Given the description of an element on the screen output the (x, y) to click on. 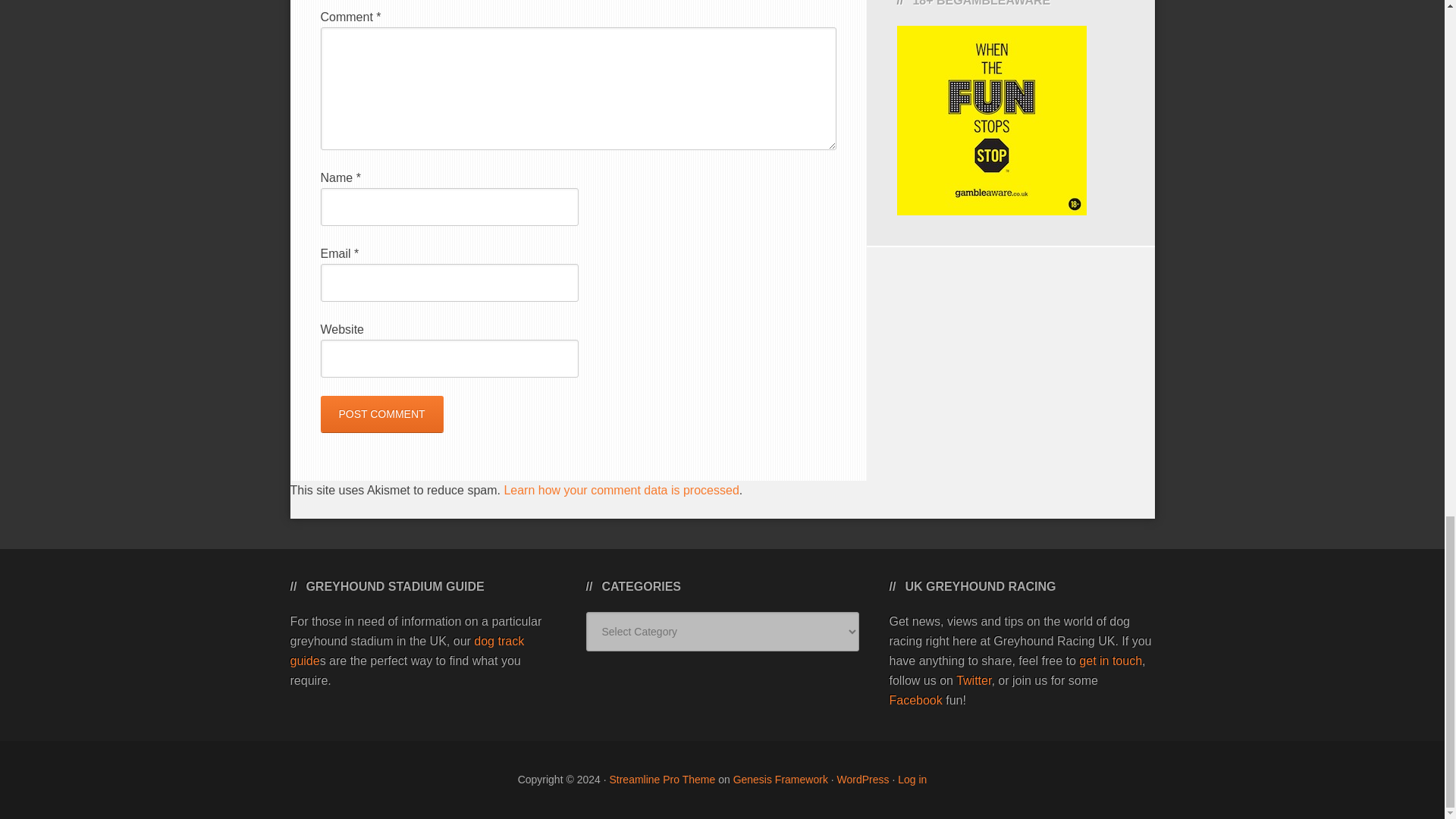
Post Comment (381, 413)
Post Comment (381, 413)
Learn how your comment data is processed (620, 490)
